Given the description of an element on the screen output the (x, y) to click on. 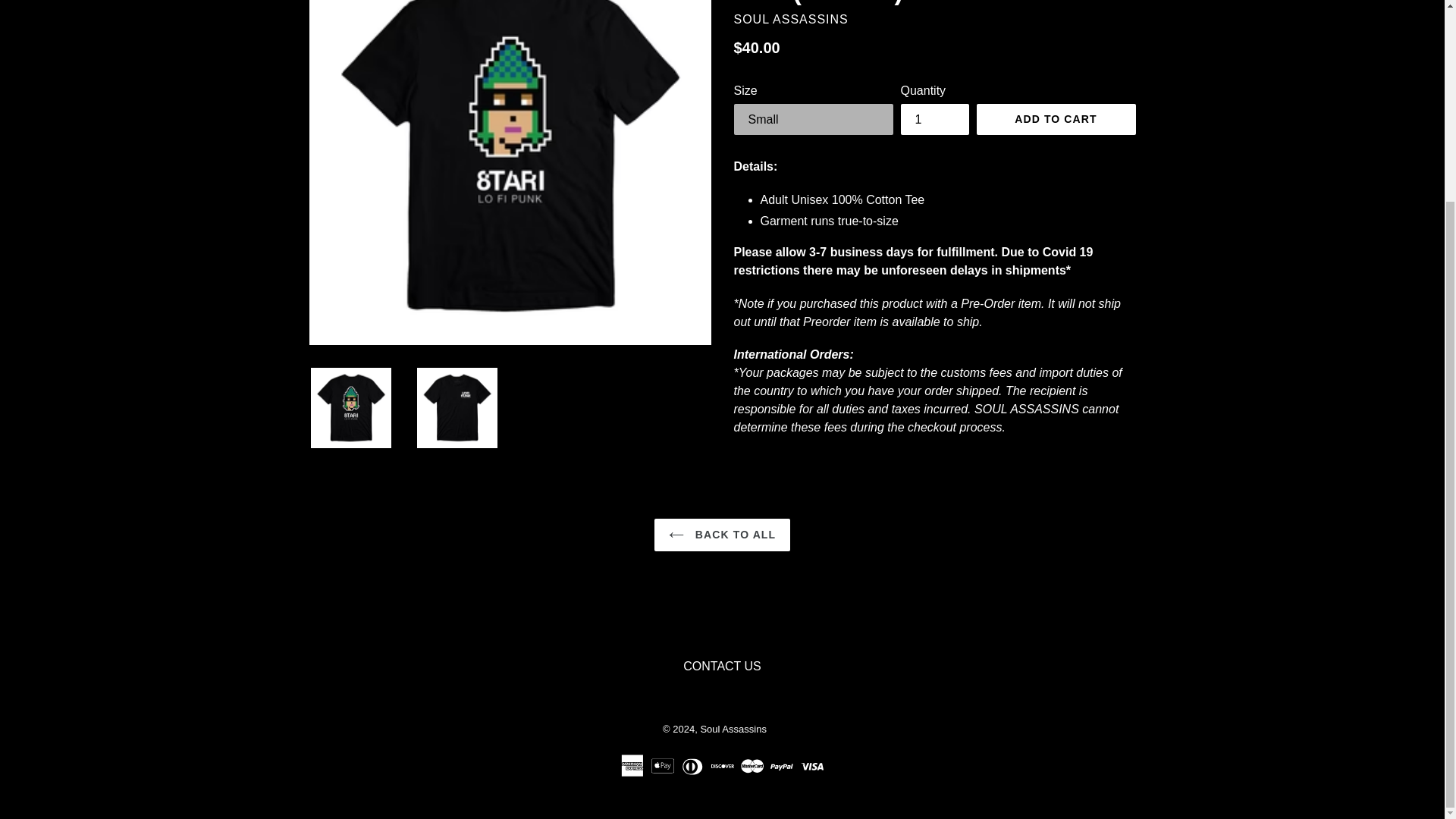
BACK TO ALL (721, 534)
CONTACT US (721, 666)
Soul Assassins (732, 728)
ADD TO CART (1055, 119)
1 (935, 119)
